Given the description of an element on the screen output the (x, y) to click on. 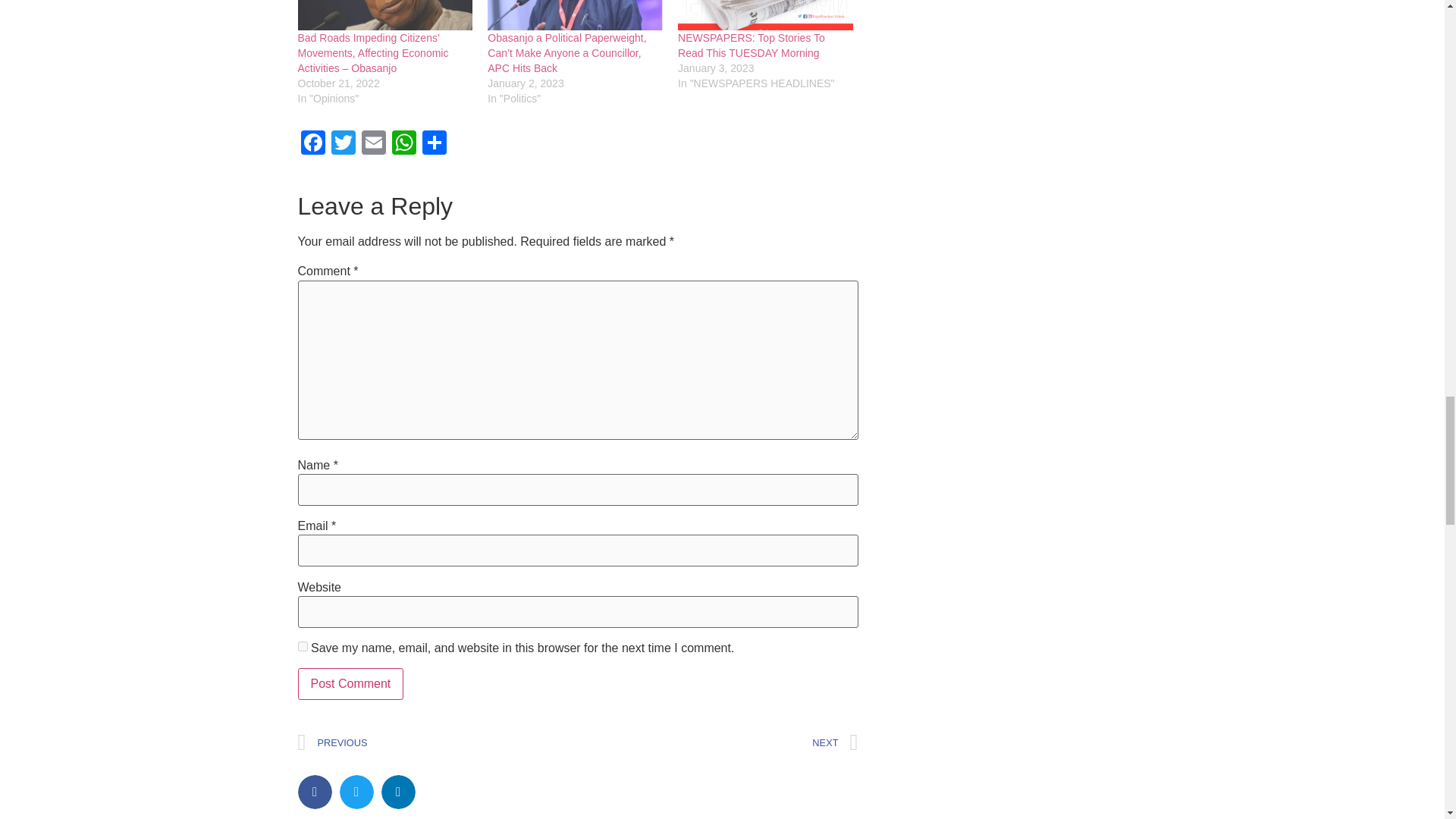
WhatsApp (403, 144)
NEXT (717, 742)
Twitter (342, 144)
NEWSPAPERS: Top Stories To Read This TUESDAY Morning (751, 44)
PREVIOUS (436, 742)
Email (373, 144)
Post Comment (350, 684)
Share (433, 144)
Facebook (312, 144)
NEWSPAPERS: Top Stories To Read This TUESDAY Morning (765, 15)
Post Comment (350, 684)
WhatsApp (403, 144)
Email (373, 144)
Twitter (342, 144)
Facebook (312, 144)
